Given the description of an element on the screen output the (x, y) to click on. 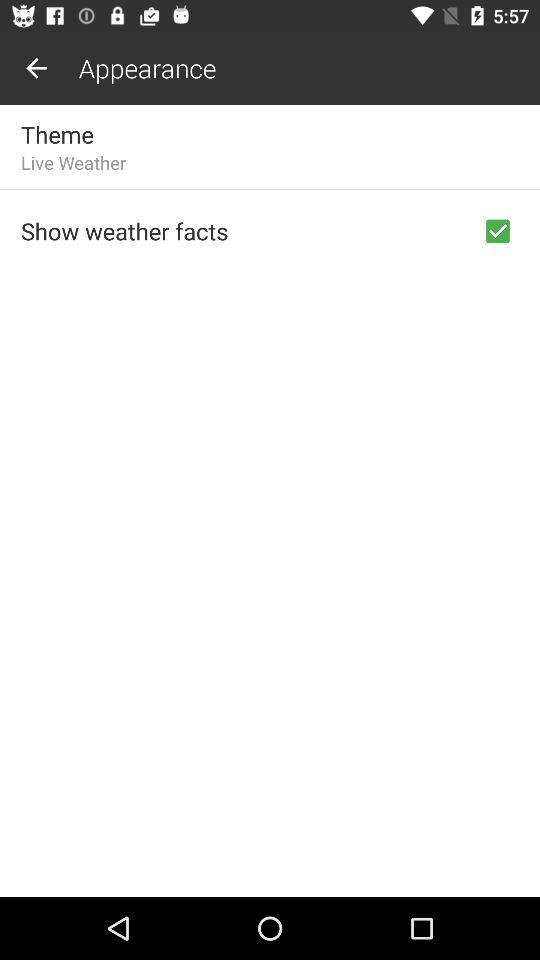
turn off icon to the left of appearance app (36, 68)
